Given the description of an element on the screen output the (x, y) to click on. 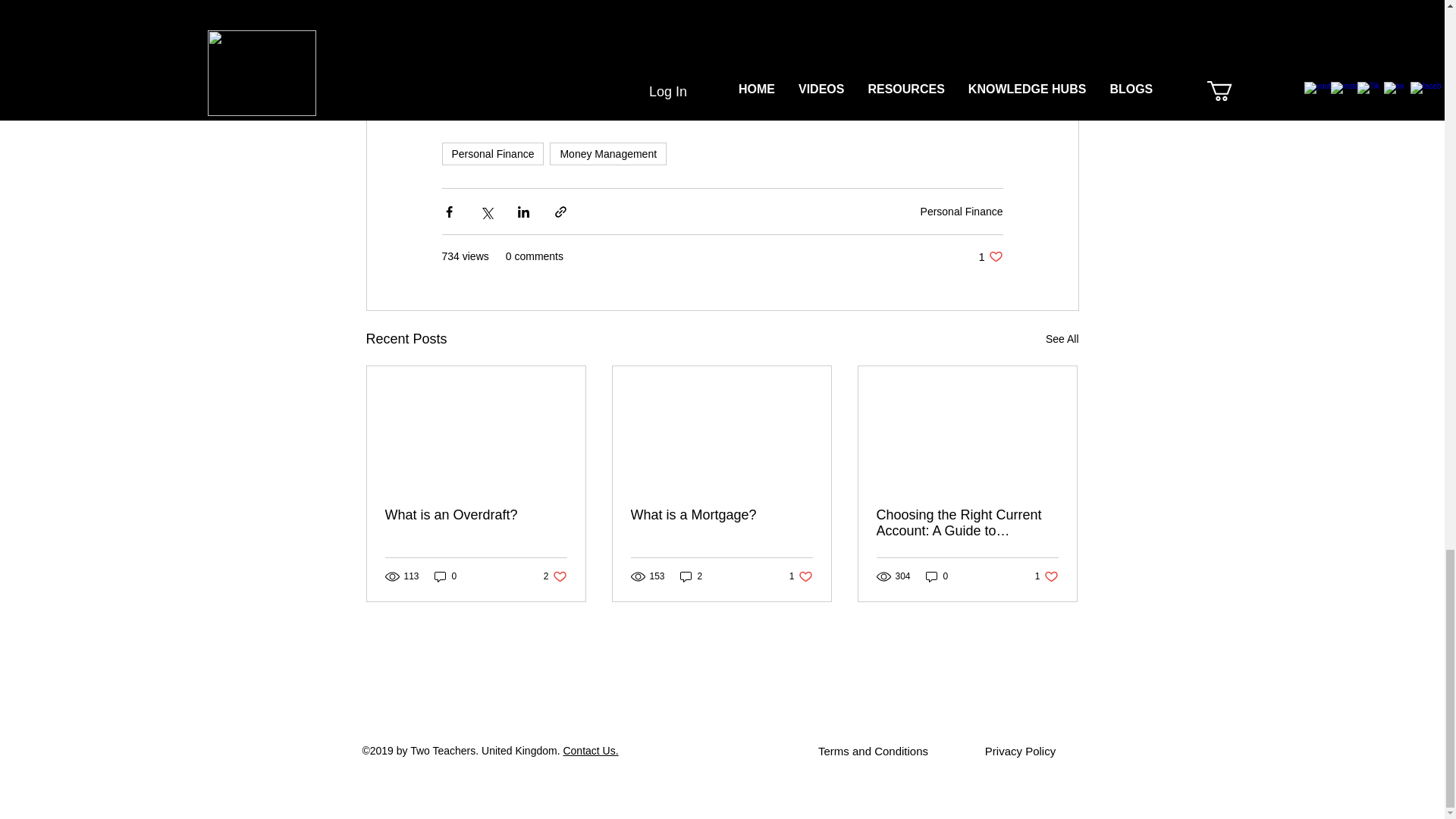
Personal Finance (492, 153)
Personal Finance (961, 211)
Money Management (608, 153)
